Given the description of an element on the screen output the (x, y) to click on. 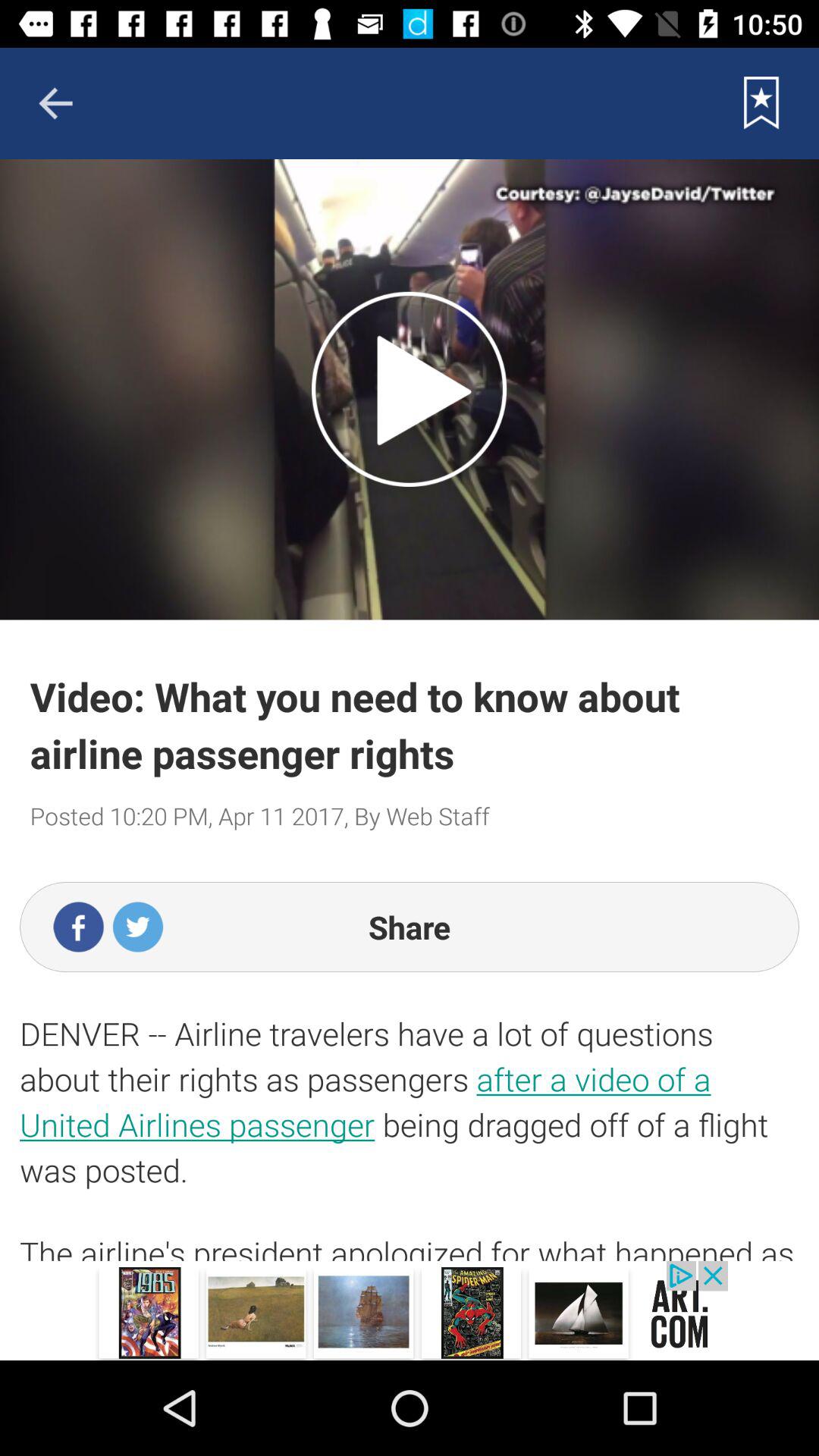
play video (408, 388)
